Given the description of an element on the screen output the (x, y) to click on. 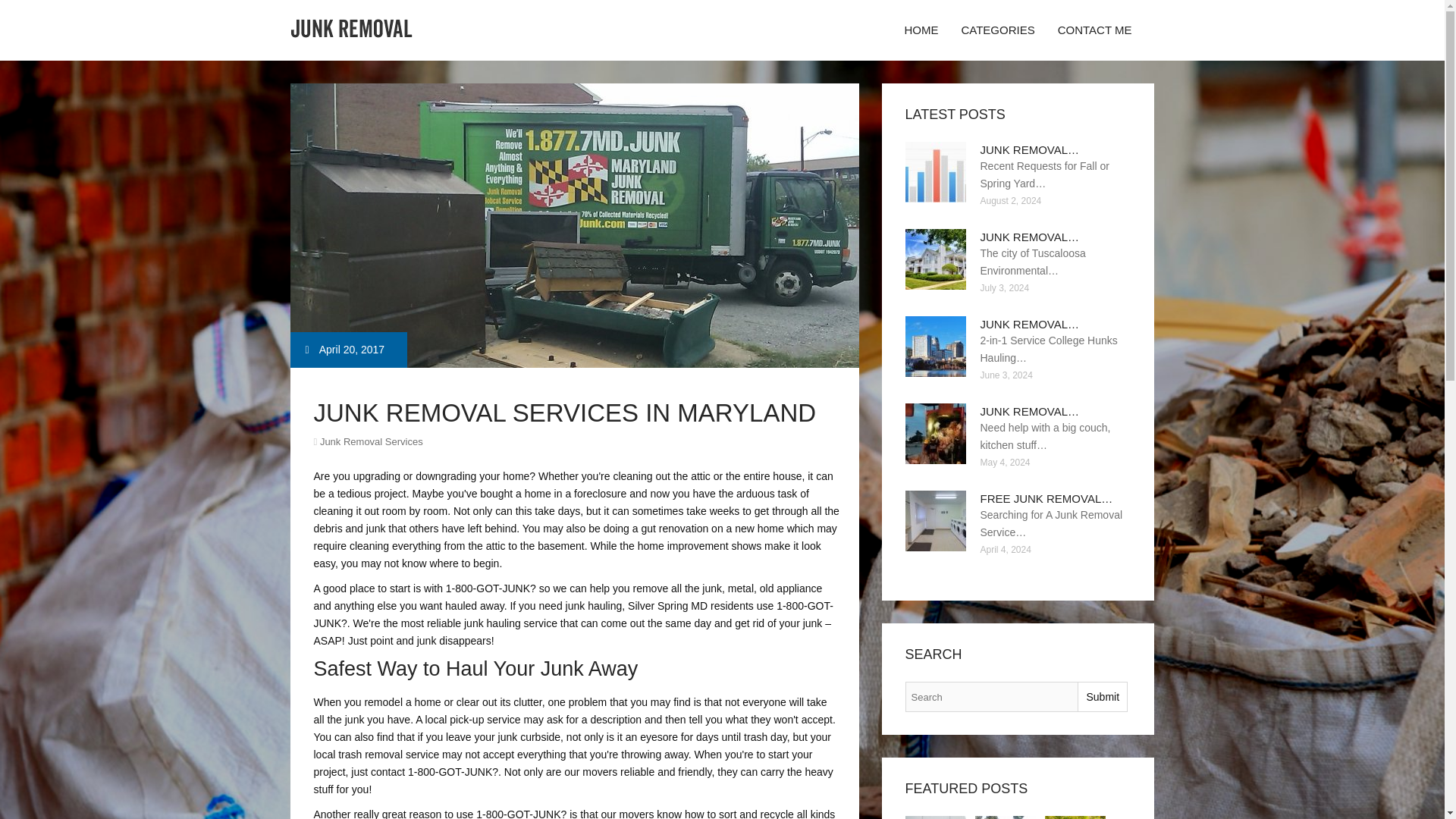
HOME (920, 30)
CONTACT ME (1094, 30)
Residential Junk Removal Services Tampa (1075, 817)
Cheap Junk Removal Services in Brooklyn NY (935, 817)
Junk Removal Services (371, 441)
Junk Removal Services Las Vegas (1005, 817)
Submit (1101, 696)
Submit (1101, 696)
CATEGORIES (997, 30)
